Given the description of an element on the screen output the (x, y) to click on. 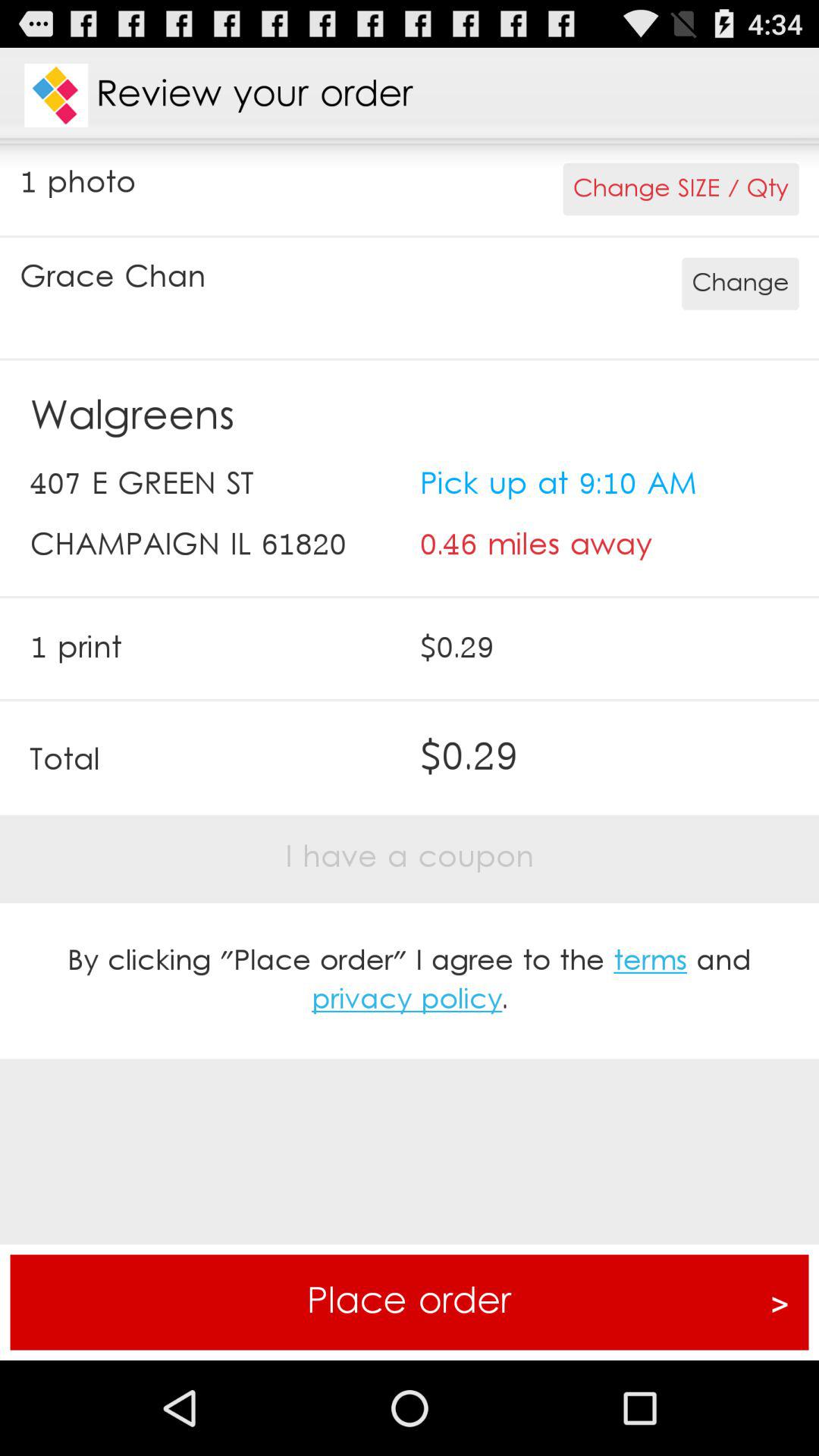
swipe until by clicking place item (409, 980)
